Given the description of an element on the screen output the (x, y) to click on. 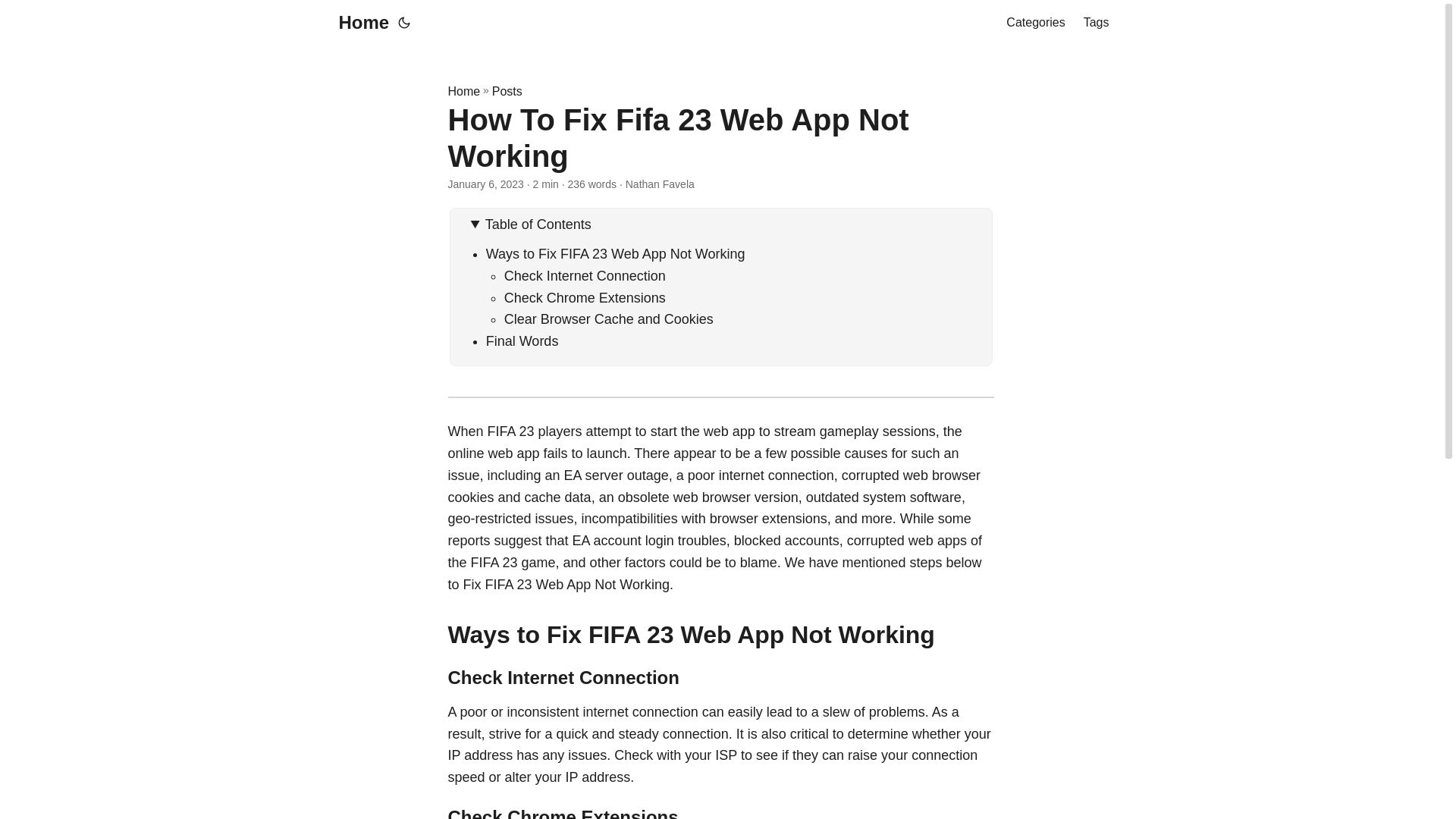
Categories (1035, 22)
Final Words (522, 340)
Ways to Fix FIFA 23 Web App Not Working (615, 253)
Clear Browser Cache and Cookies (608, 319)
Home (463, 91)
Check Chrome Extensions (584, 297)
Categories (1035, 22)
Check Internet Connection (584, 275)
Posts (507, 91)
Home (359, 22)
